Given the description of an element on the screen output the (x, y) to click on. 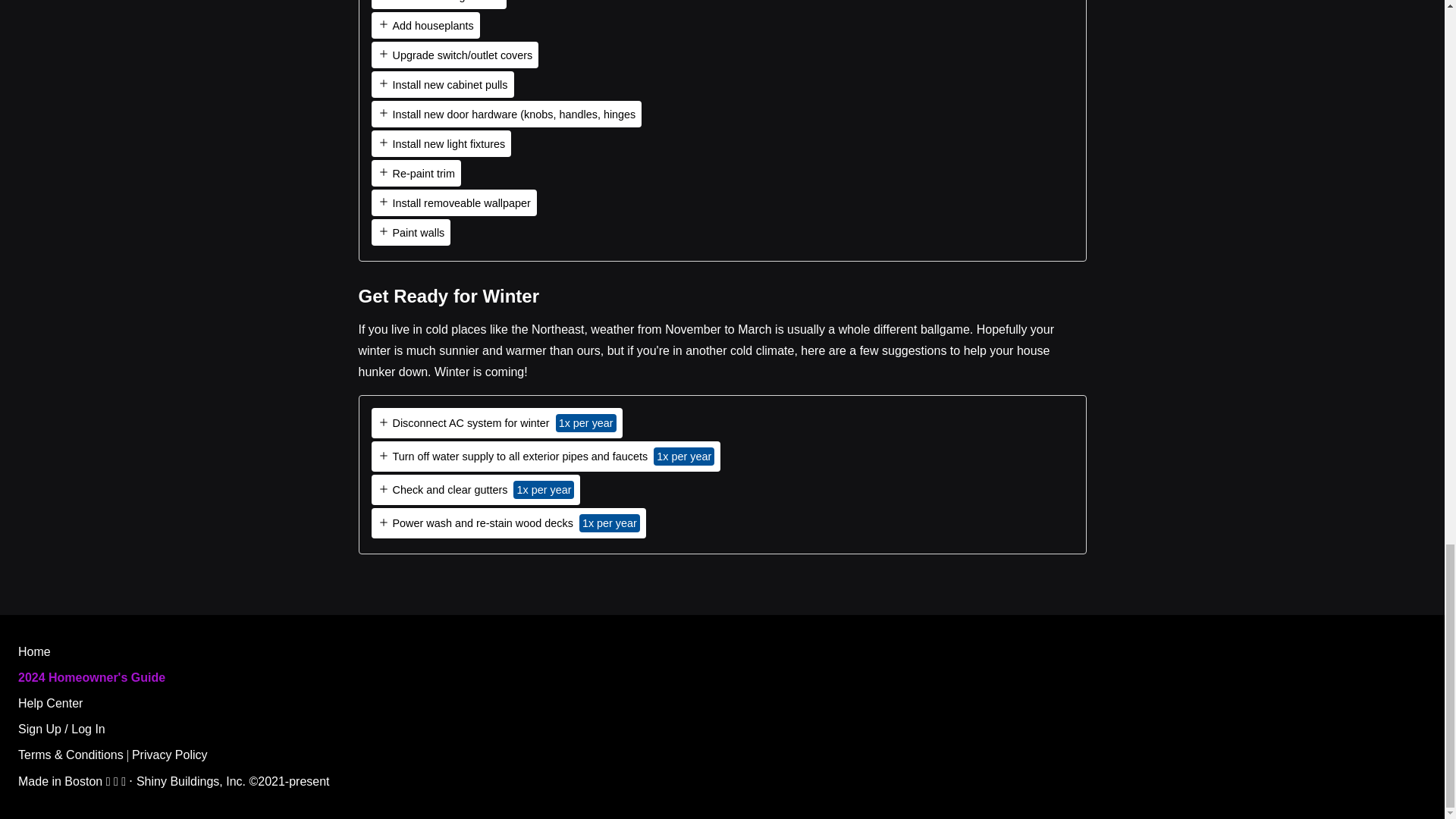
Home (33, 651)
2024 Homeowner's Guide (91, 676)
Privacy Policy (170, 754)
Help Center (49, 703)
